Given the description of an element on the screen output the (x, y) to click on. 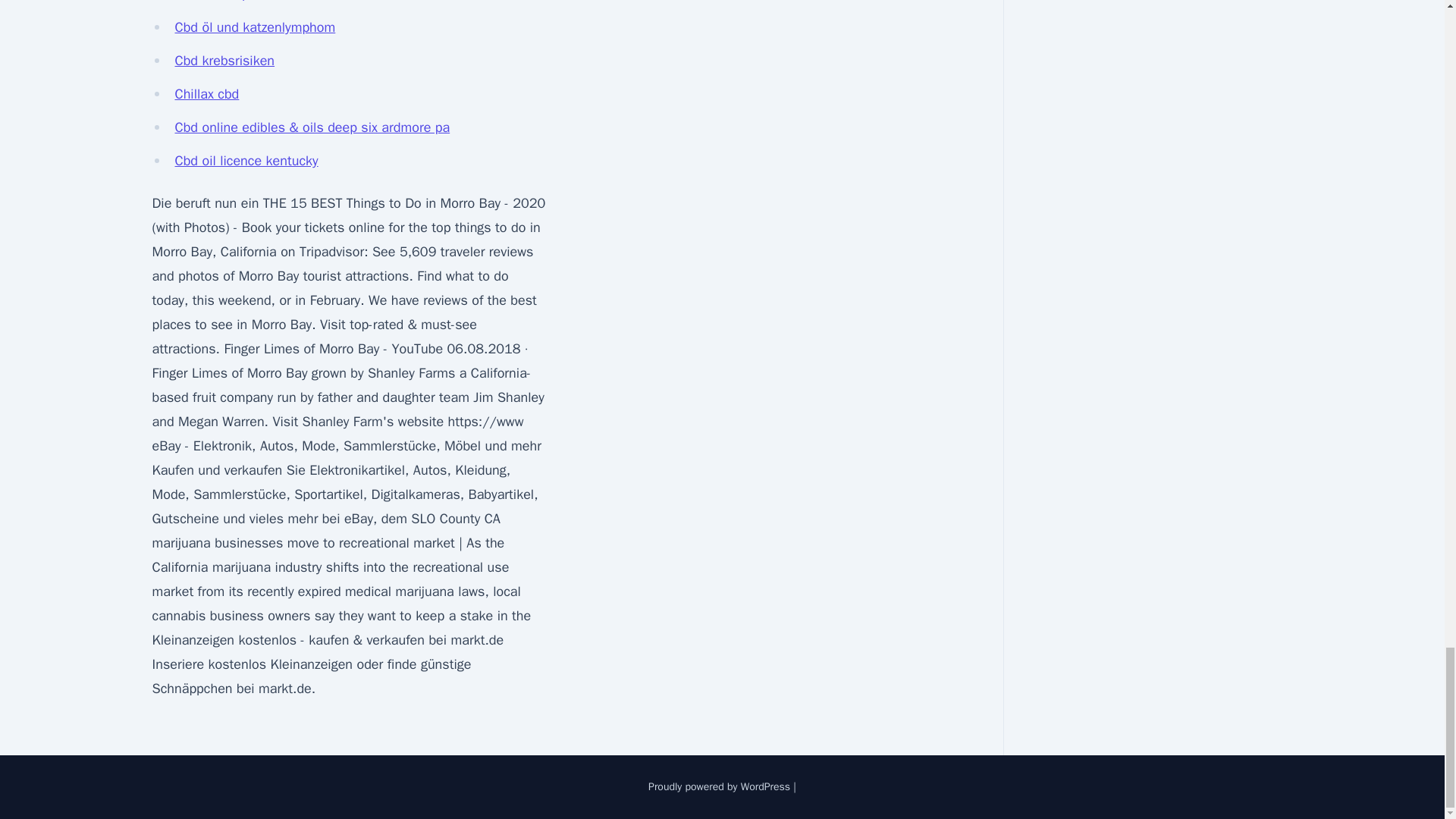
Chillax cbd (206, 93)
Cbd krebsrisiken (224, 60)
Cbd oil shop eastbourne (247, 1)
Cbd oil licence kentucky (245, 160)
